Given the description of an element on the screen output the (x, y) to click on. 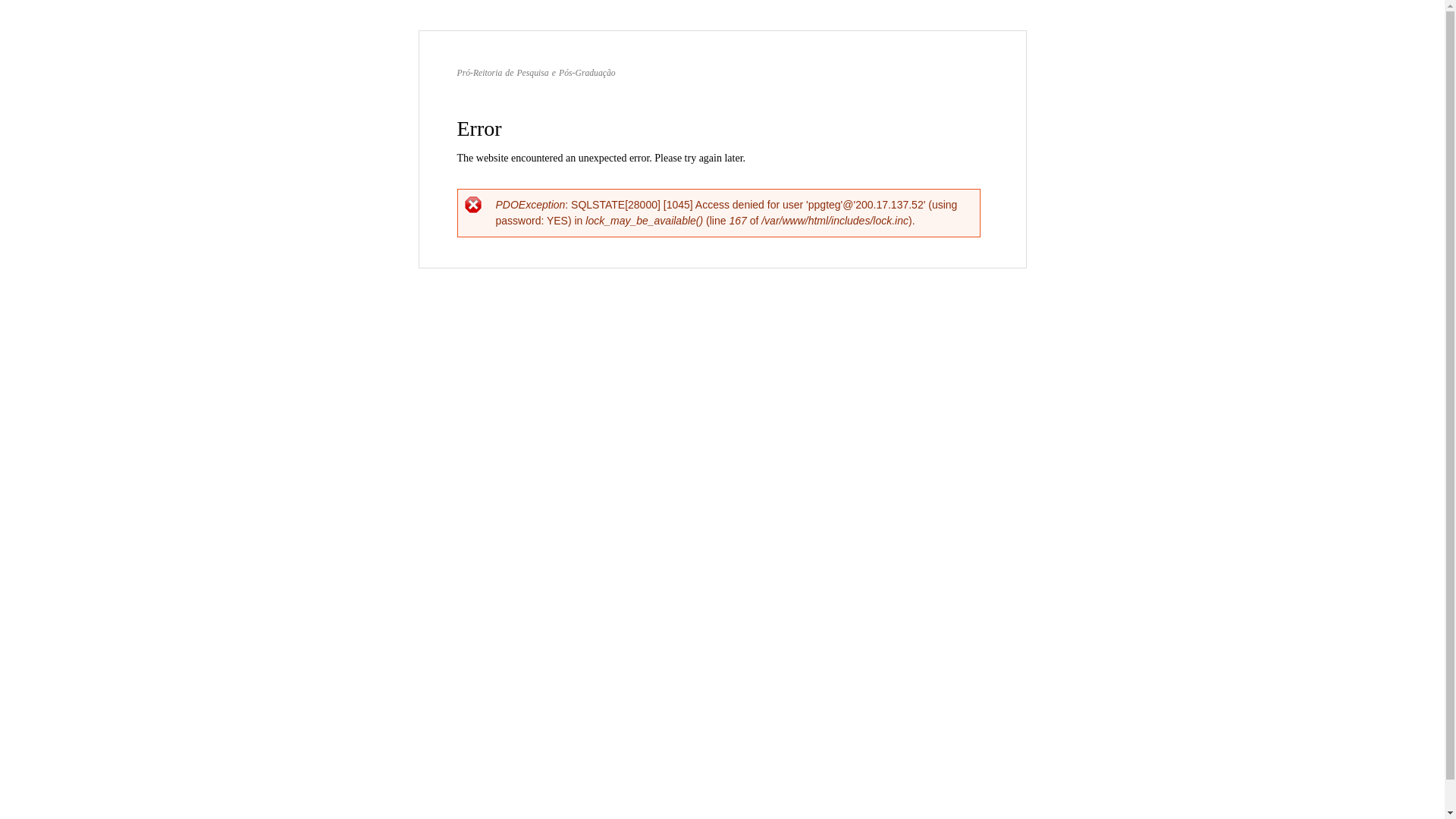
Skip to main content Element type: text (690, 31)
